Given the description of an element on the screen output the (x, y) to click on. 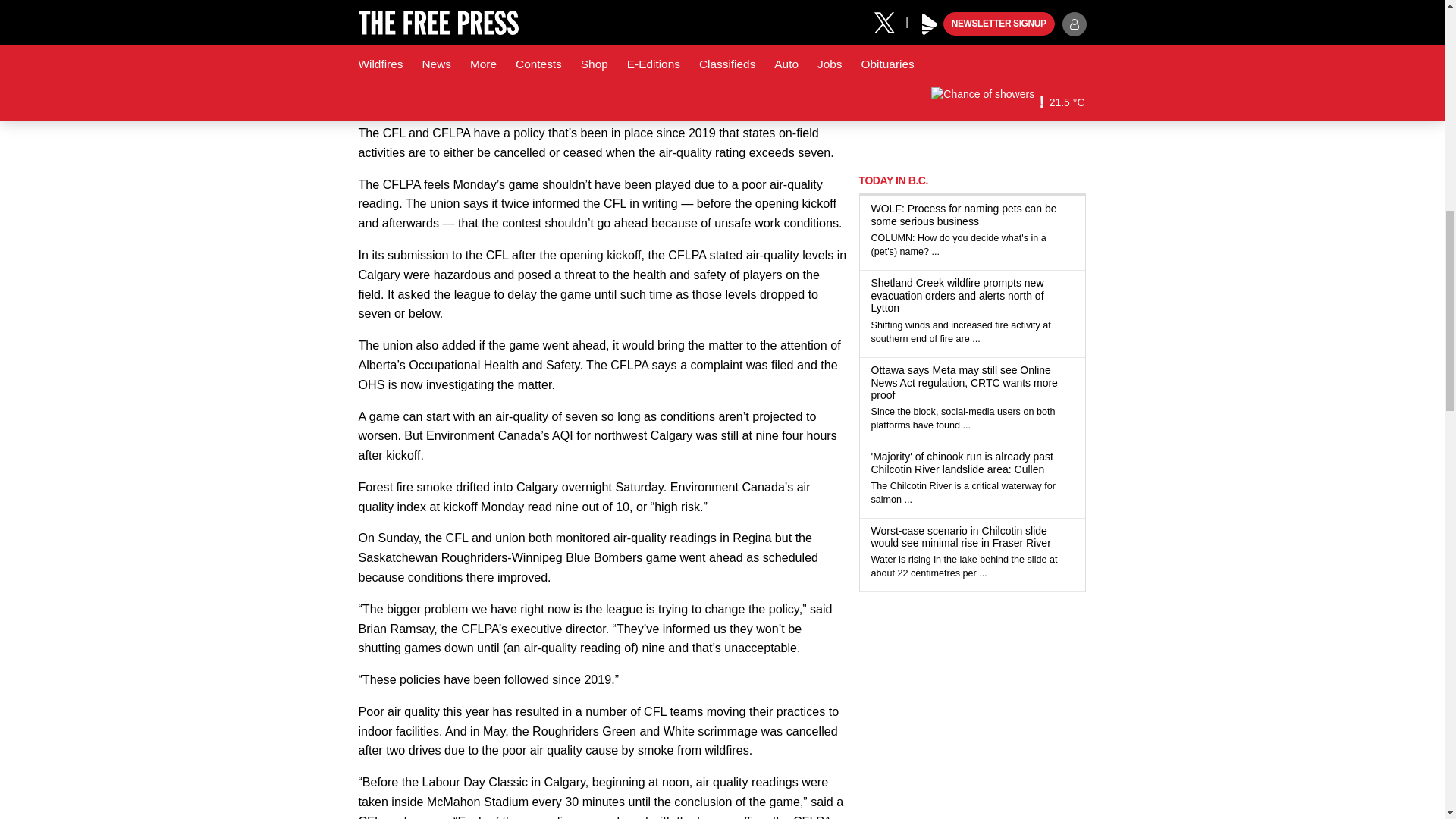
Has a gallery (908, 309)
